Given the description of an element on the screen output the (x, y) to click on. 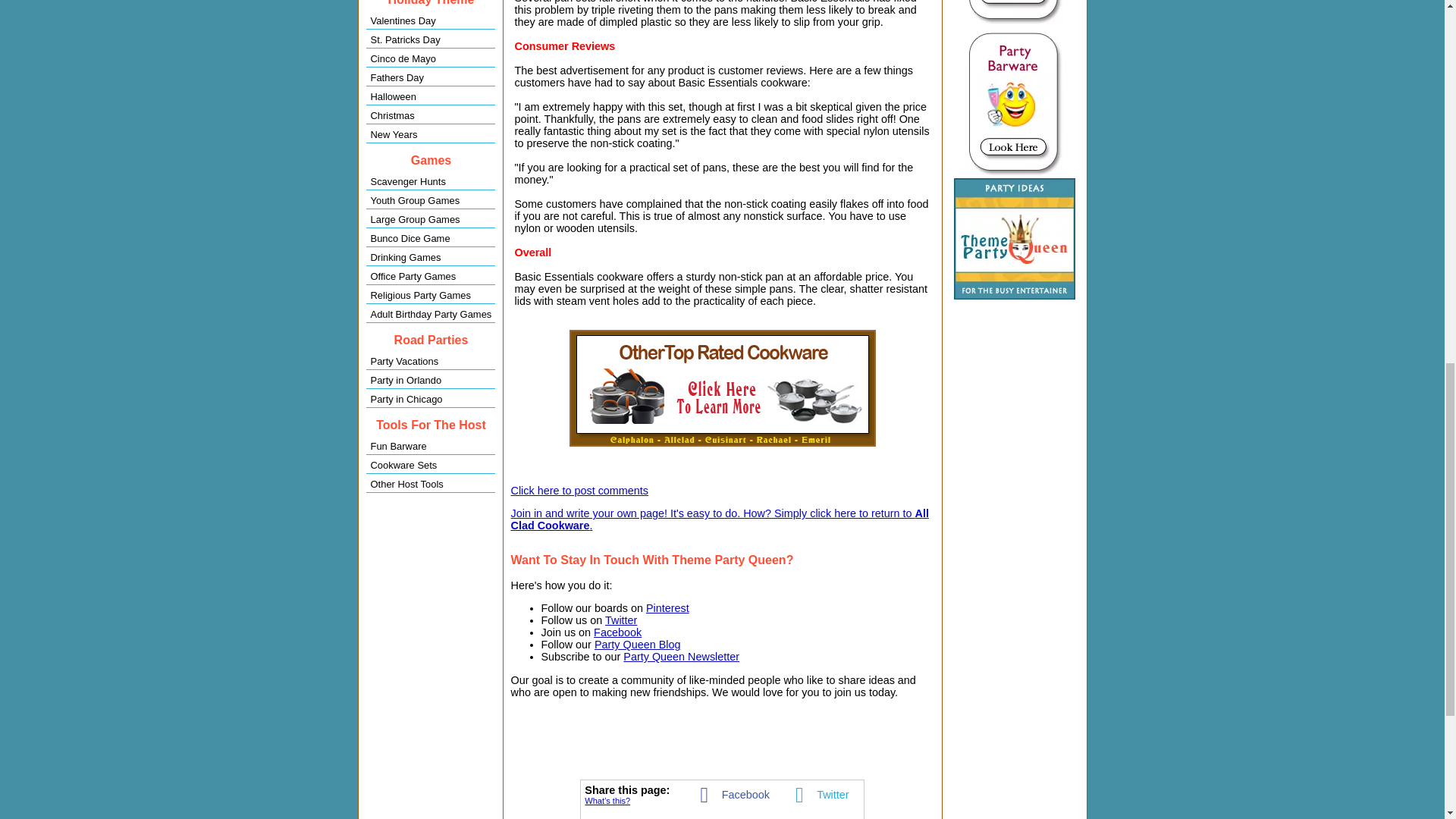
Pinterest (667, 607)
Party Queen Blog (637, 644)
Twitter (817, 793)
Facebook (618, 632)
Theme Party Queen Logo (1014, 238)
Twitter (621, 620)
Party Queen Newsletter (681, 656)
Click here to post comments (580, 490)
Facebook (730, 793)
